Given the description of an element on the screen output the (x, y) to click on. 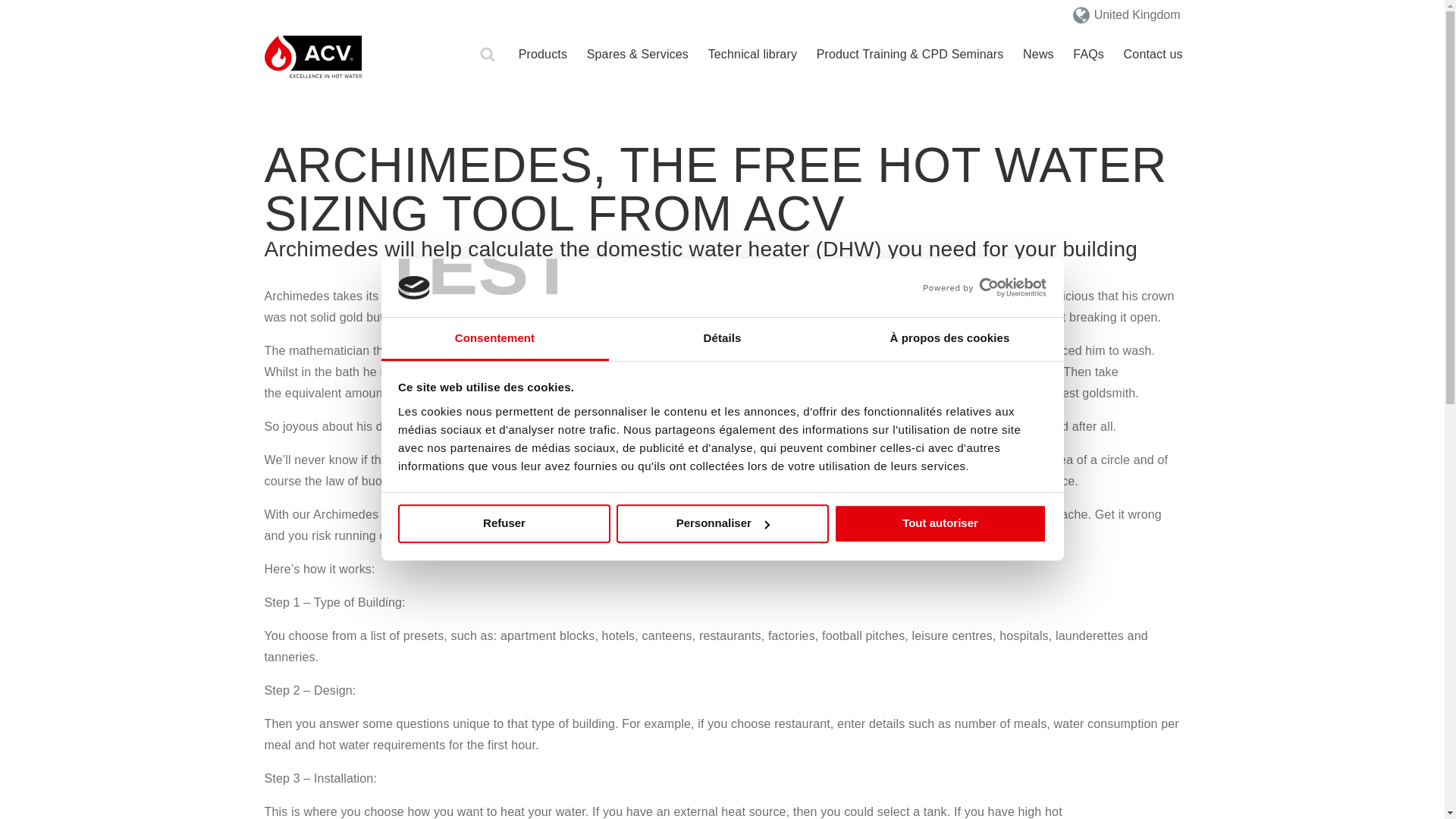
Consentement (494, 339)
search shortcut (487, 54)
Tout autoriser (940, 523)
Personnaliser (721, 523)
Refuser (503, 523)
